Given the description of an element on the screen output the (x, y) to click on. 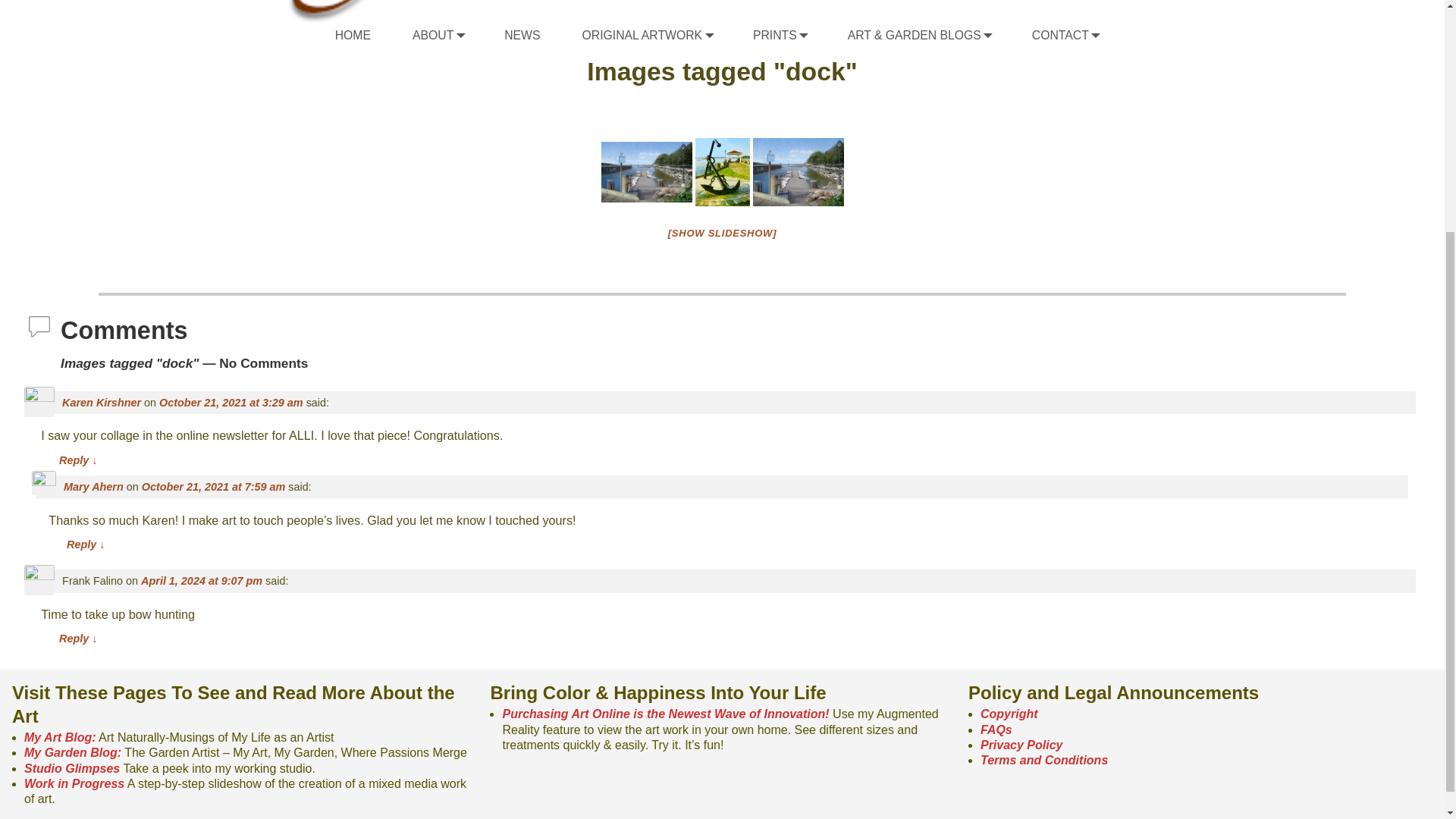
October 21, 2021 at 7:59 am (213, 486)
NEWS (533, 35)
October 21, 2021 at 3:29 am (230, 402)
Mary Ahern (93, 486)
Karen Kirshner (101, 402)
CONTACT (1077, 35)
Take a peek into my working studio. (71, 768)
HOME (364, 35)
Frequently Asked Questions (995, 729)
April 1, 2024 at 9:07 pm (201, 580)
PRINTS (791, 35)
